Given the description of an element on the screen output the (x, y) to click on. 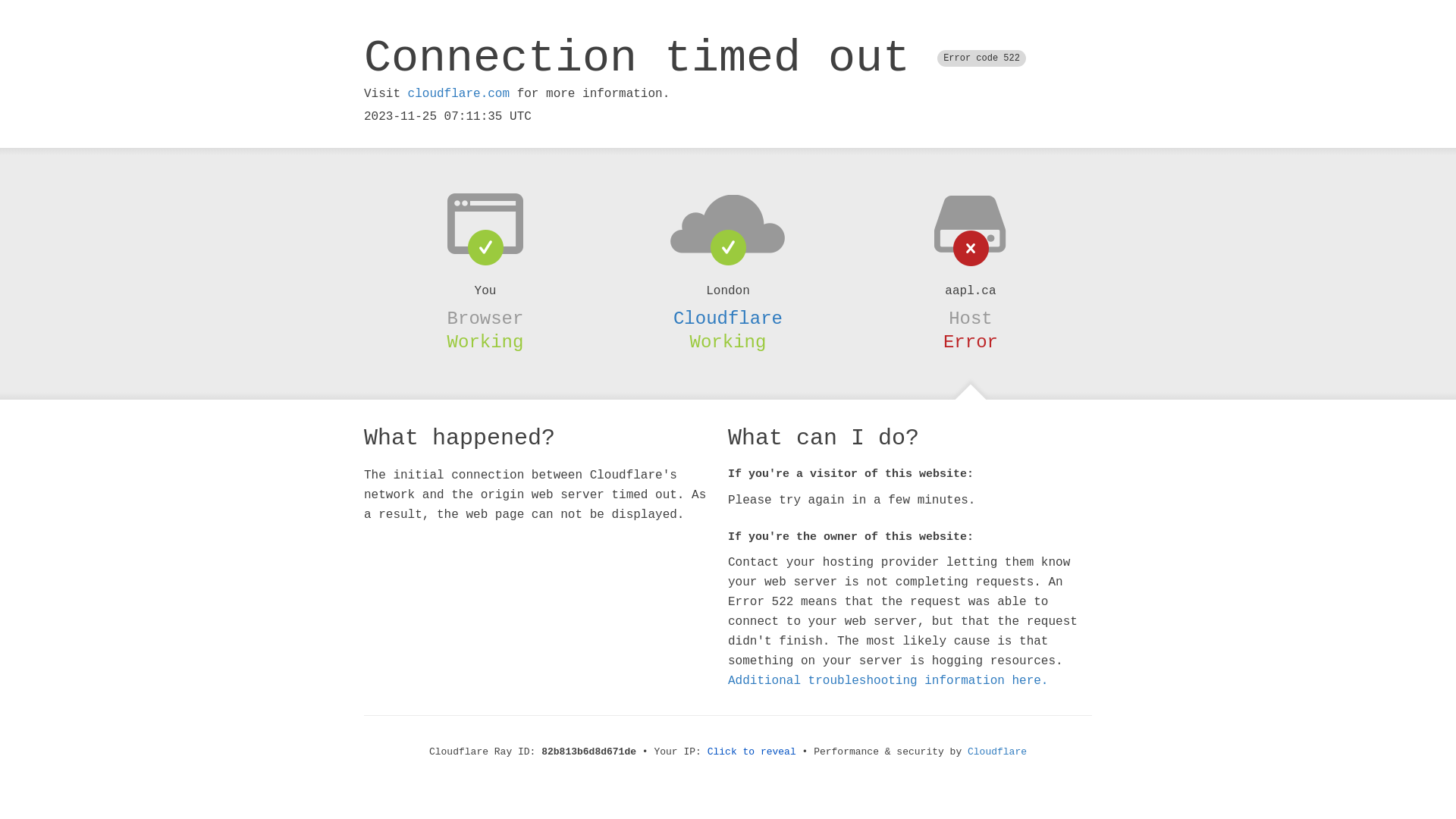
Cloudflare Element type: text (727, 318)
Additional troubleshooting information here. Element type: text (888, 680)
cloudflare.com Element type: text (458, 93)
Cloudflare Element type: text (996, 751)
Click to reveal Element type: text (751, 751)
